Given the description of an element on the screen output the (x, y) to click on. 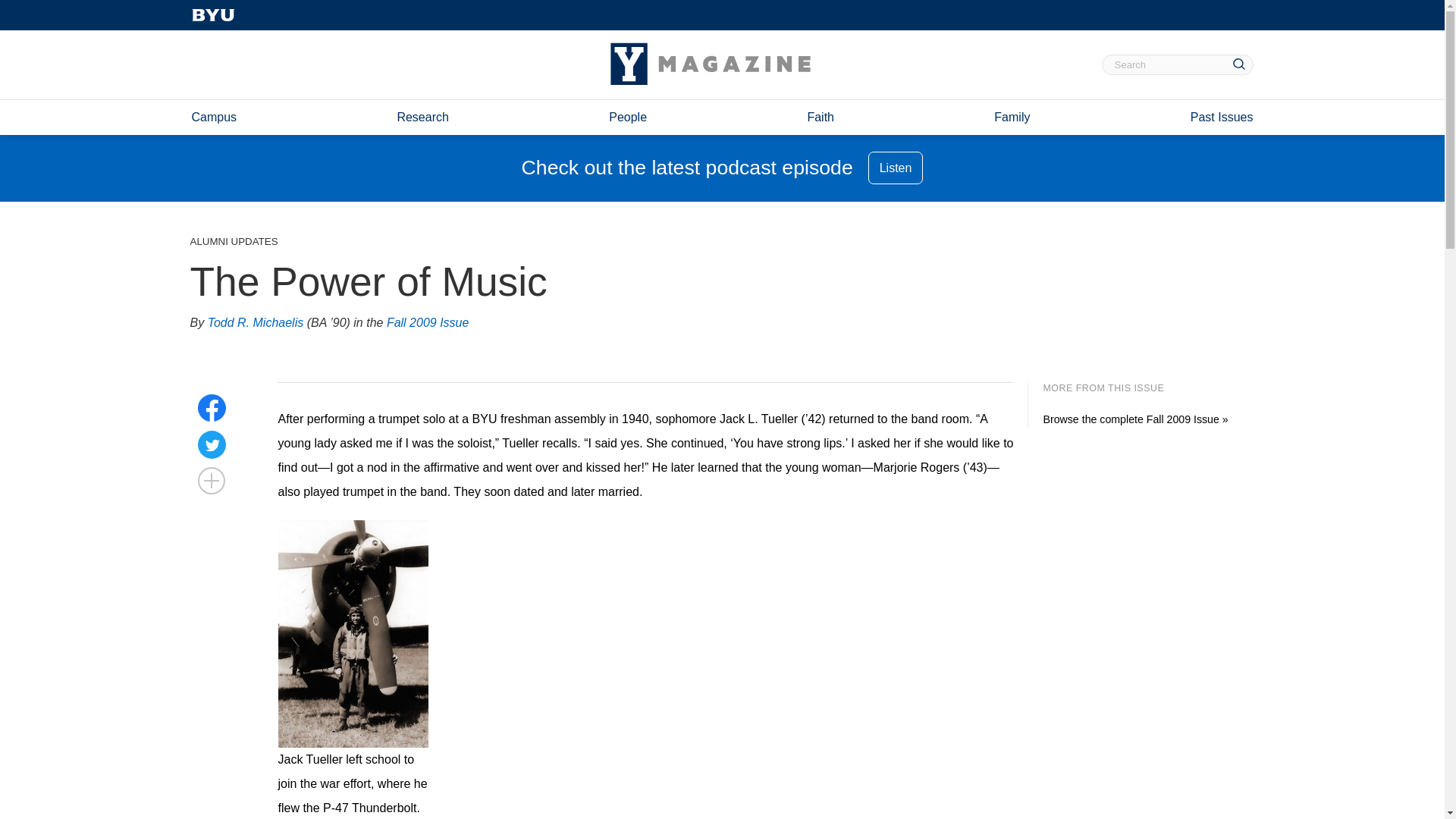
ALUMNI UPDATES (233, 241)
Check out the latest podcast episode (687, 167)
Listen (895, 168)
Research (422, 117)
Past Issues (1222, 117)
Fall 2009 Issue (427, 323)
Campus (212, 117)
People (627, 117)
Family (1011, 117)
Todd R. Michaelis (256, 323)
